Given the description of an element on the screen output the (x, y) to click on. 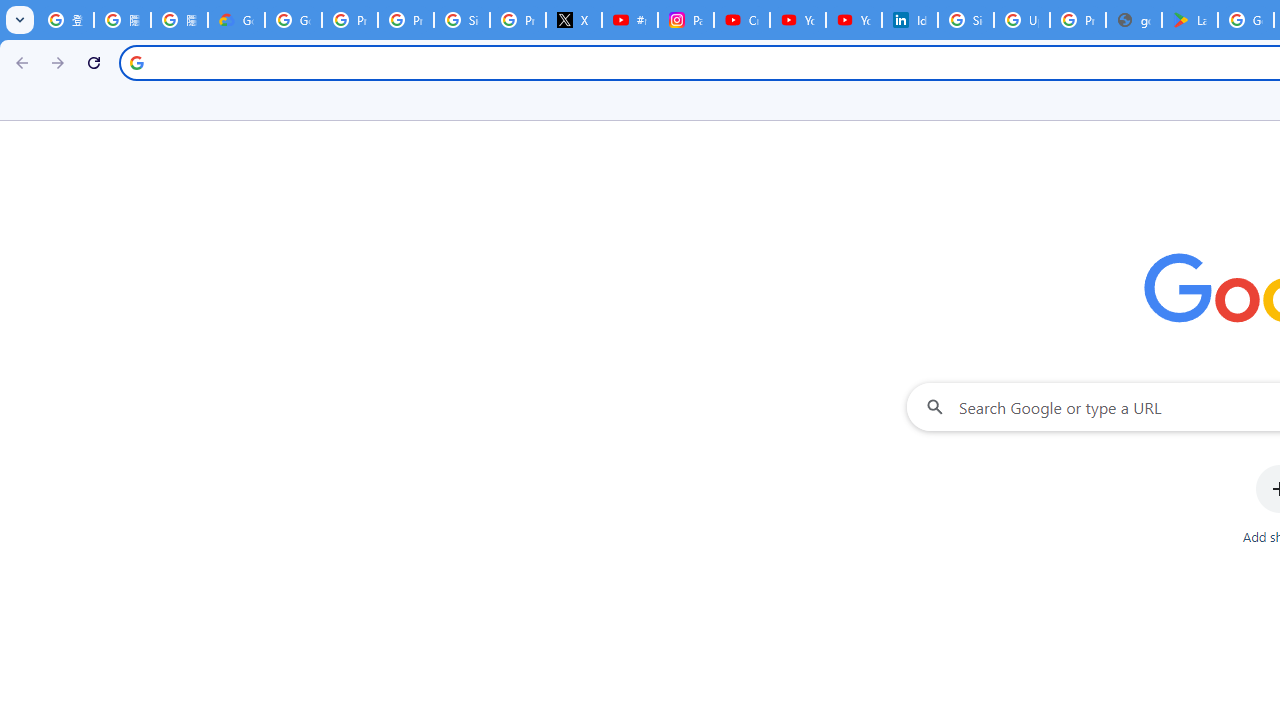
YouTube Culture & Trends - YouTube Top 10, 2021 (853, 20)
Google Cloud Privacy Notice (235, 20)
X (573, 20)
google_privacy_policy_en.pdf (1133, 20)
Sign in - Google Accounts (461, 20)
Privacy Help Center - Policies Help (405, 20)
Sign in - Google Accounts (966, 20)
